Given the description of an element on the screen output the (x, y) to click on. 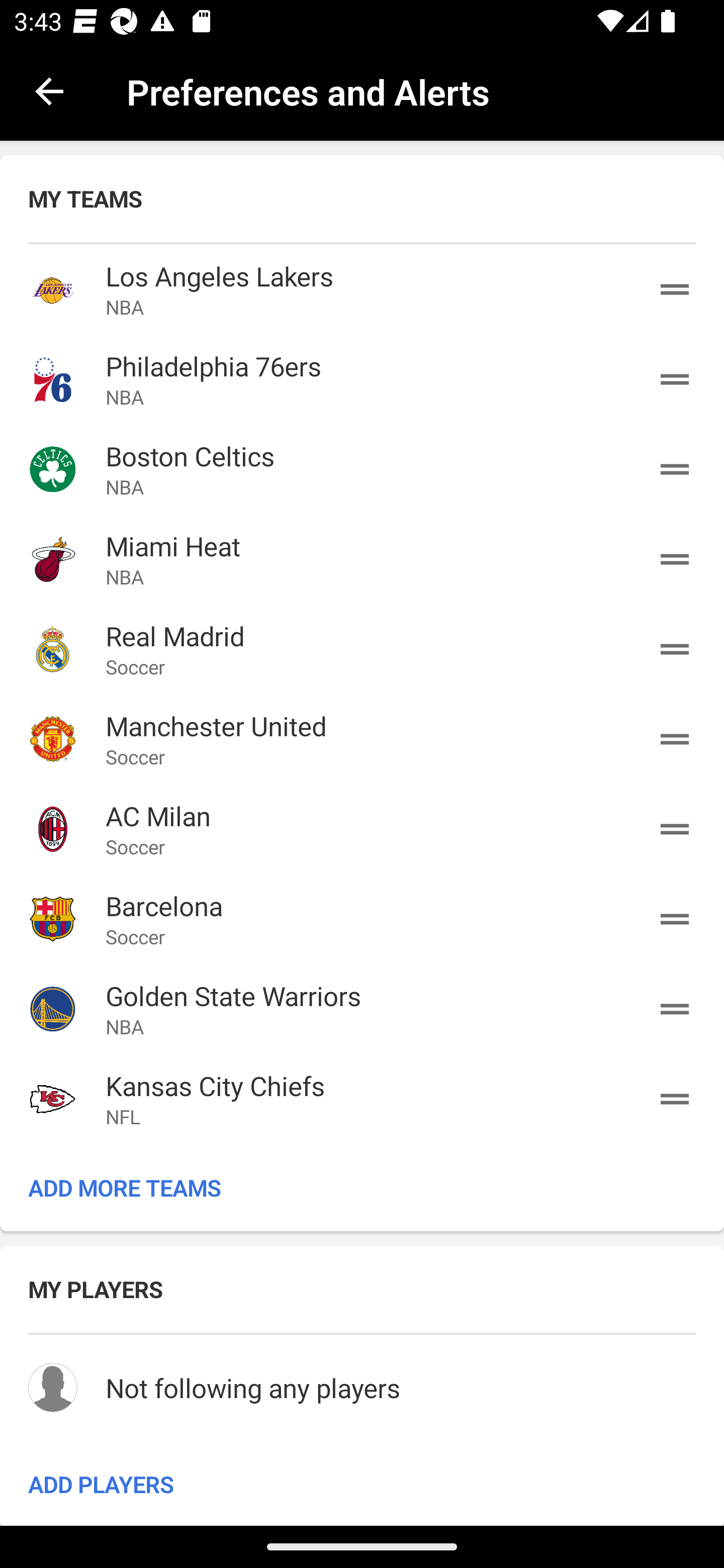
back.button (49, 90)
Miami Heat Miami Heat Miami Heat NBA NBA (362, 558)
Real Madrid Real Madrid Real Madrid Soccer Soccer (362, 648)
AC Milan AC Milan AC Milan Soccer Soccer (362, 828)
Barcelona Barcelona Barcelona Soccer Soccer (362, 918)
ADD MORE TEAMS (362, 1186)
ADD PLAYERS (362, 1482)
